Given the description of an element on the screen output the (x, y) to click on. 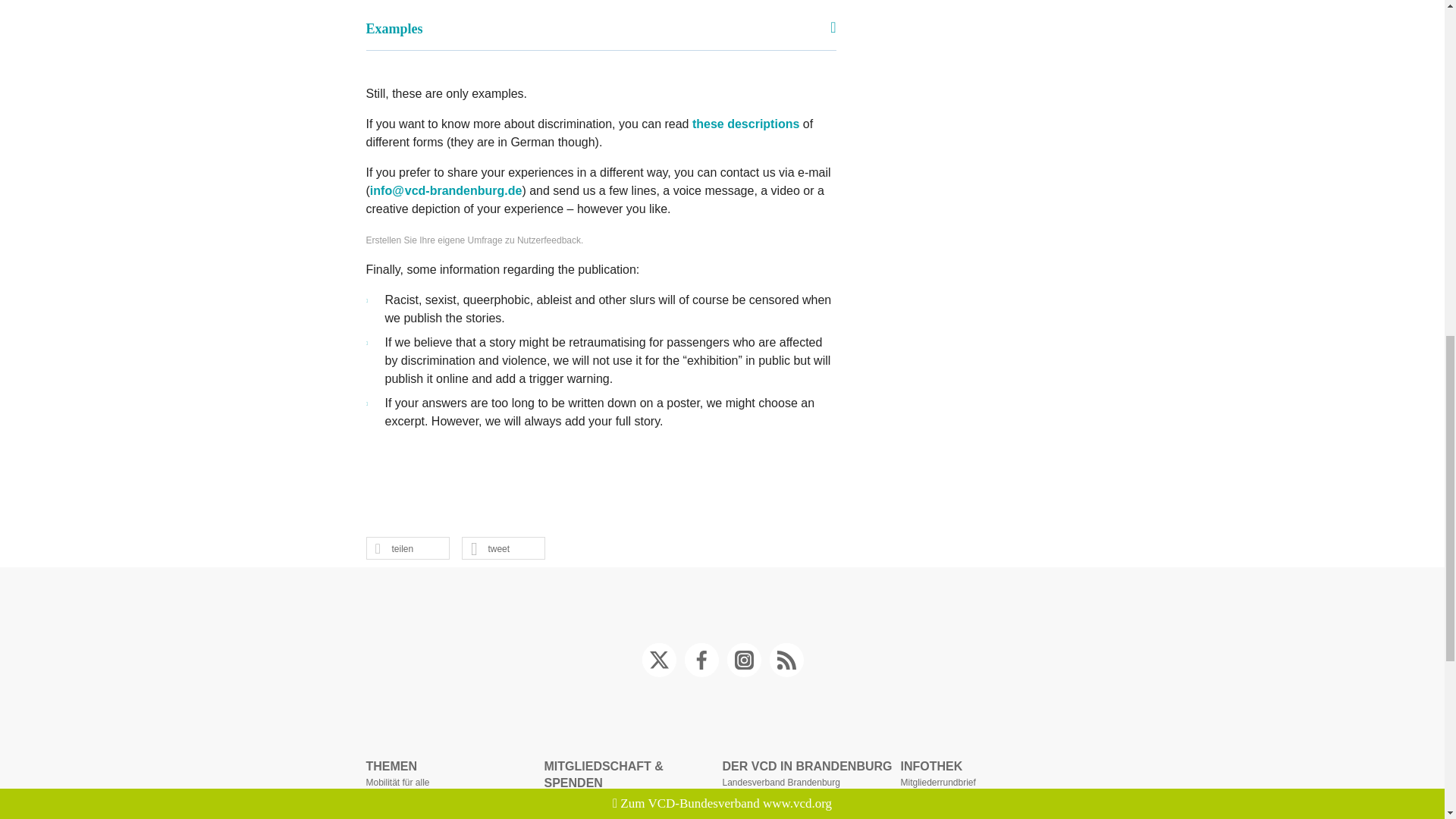
Bei Twitter teilen (489, 548)
VCD  RSS (785, 659)
Bei Facebook teilen (394, 548)
